Given the description of an element on the screen output the (x, y) to click on. 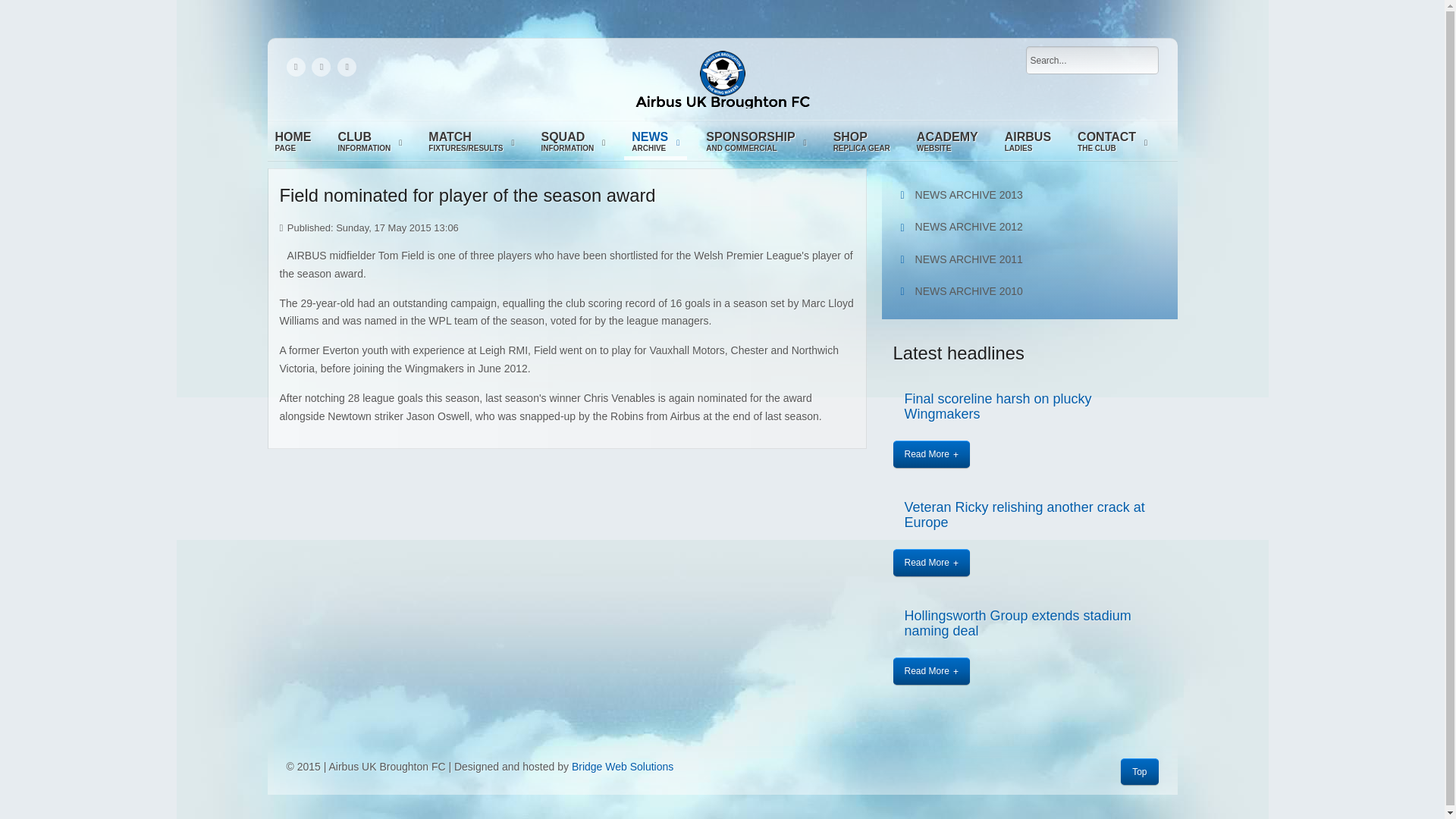
Veteran Ricky relishing another crack at Europe (1024, 514)
NEWS ARCHIVE 2011 (1029, 259)
Read More (755, 142)
NEWS ARCHIVE 2010 (292, 142)
Top (931, 453)
NEWS ARCHIVE 2012 (1029, 291)
